Given the description of an element on the screen output the (x, y) to click on. 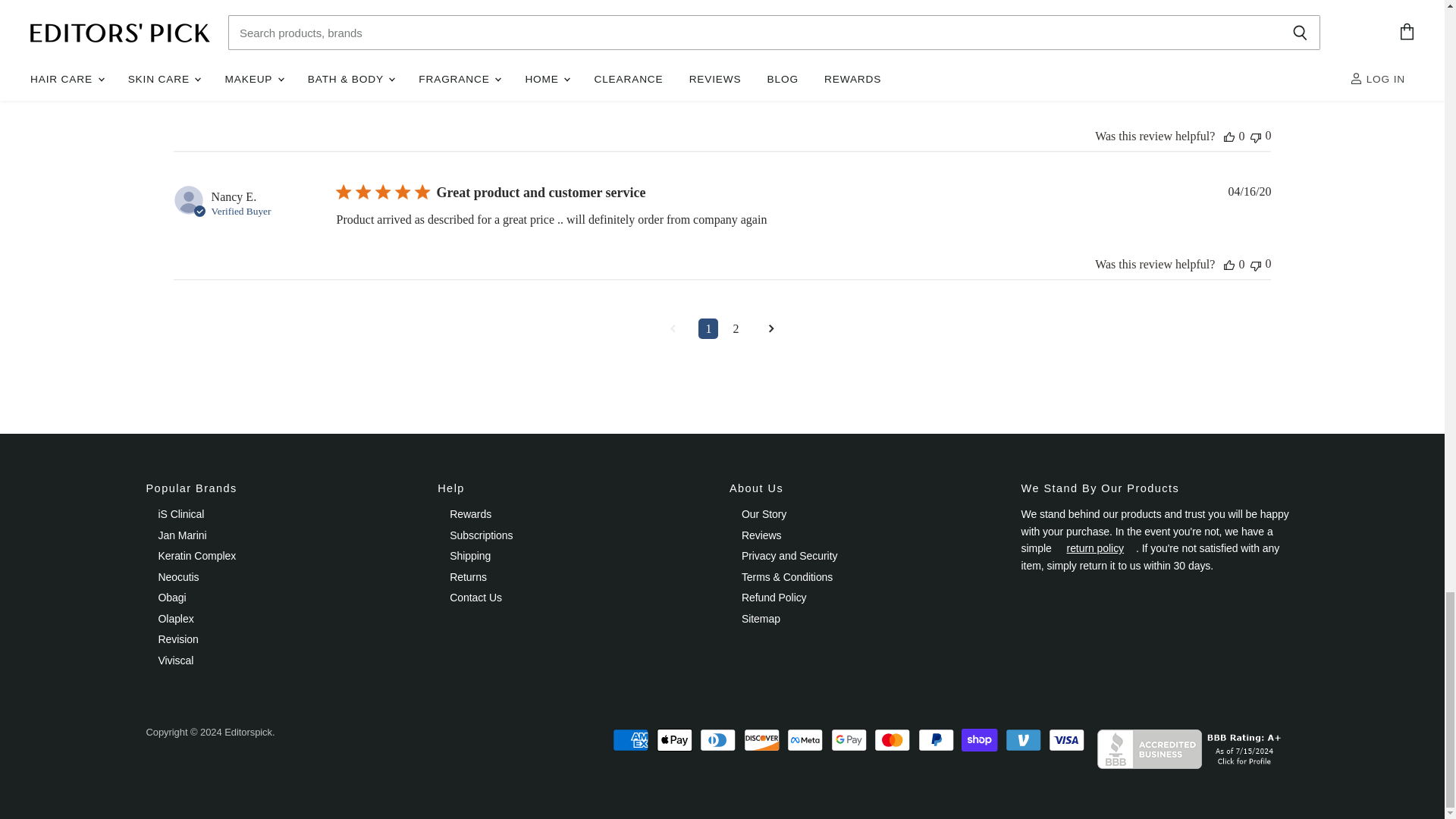
Nancy E. (234, 196)
Judith M. (234, 41)
Returns (1095, 547)
